Given the description of an element on the screen output the (x, y) to click on. 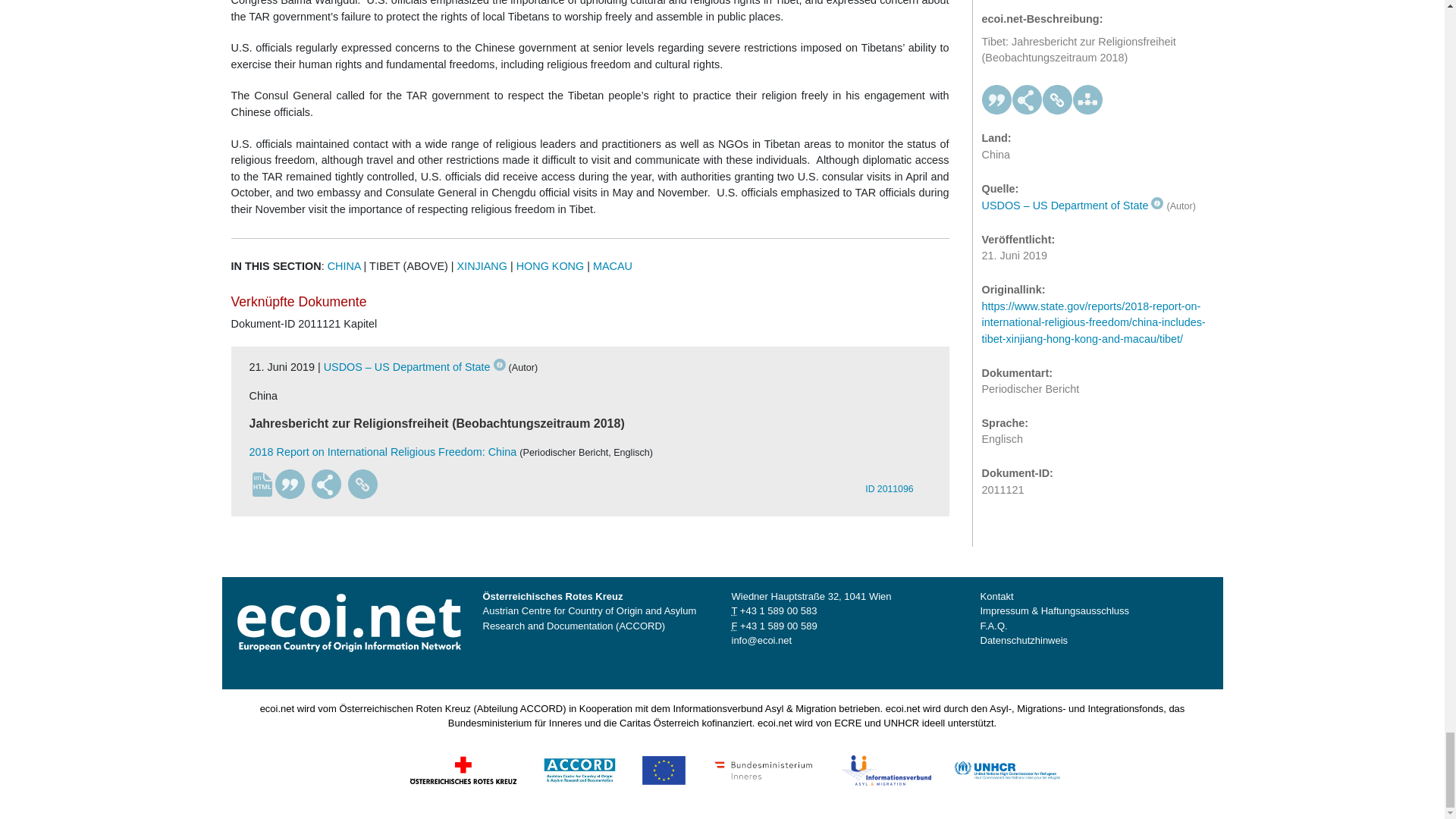
Dokument zeigen (894, 482)
Teilen (325, 484)
XINJIANG (481, 265)
2018 Report on International Religious Freedom: China (382, 451)
Fax (777, 625)
CHINA (344, 265)
HONG KONG (550, 265)
Quellenbeschreibung lesen (414, 367)
MACAU (611, 265)
Telefon (777, 610)
ID 2011096 (894, 482)
Zitieren als (289, 484)
Permalink (362, 484)
